Given the description of an element on the screen output the (x, y) to click on. 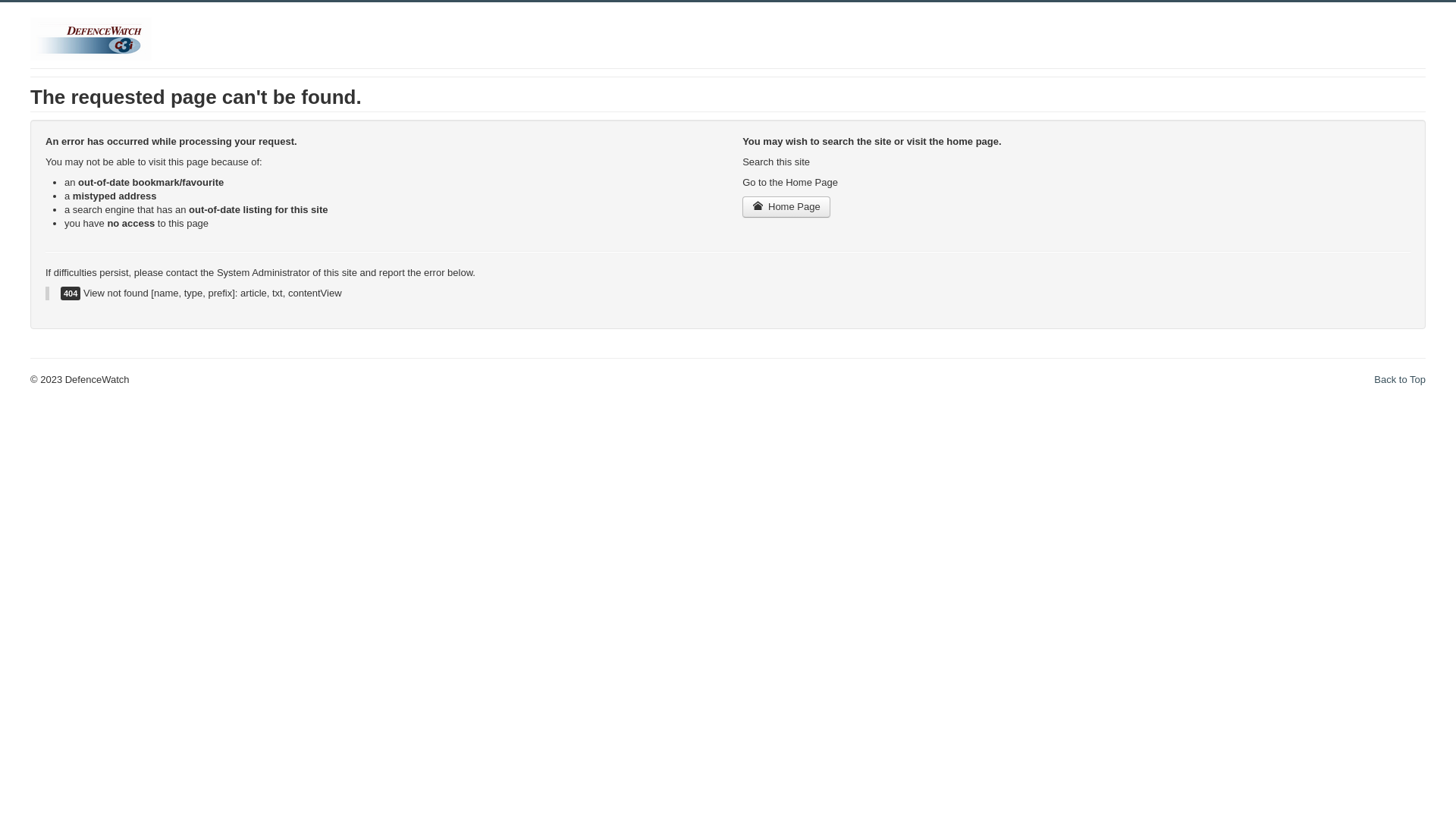
Back to Top Element type: text (1399, 379)
Home Page Element type: text (786, 206)
